Given the description of an element on the screen output the (x, y) to click on. 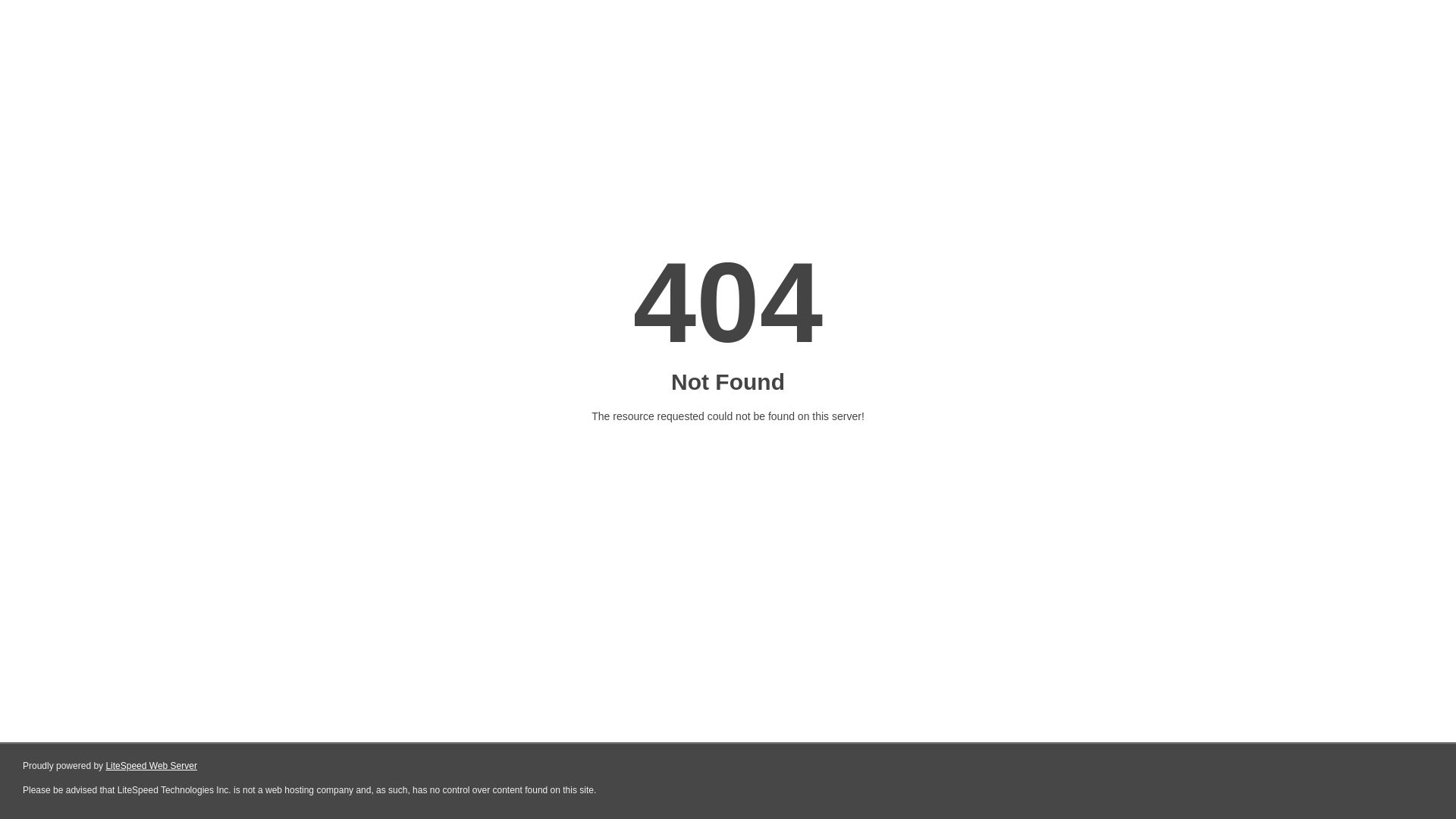
LiteSpeed Web Server Element type: text (151, 765)
